Given the description of an element on the screen output the (x, y) to click on. 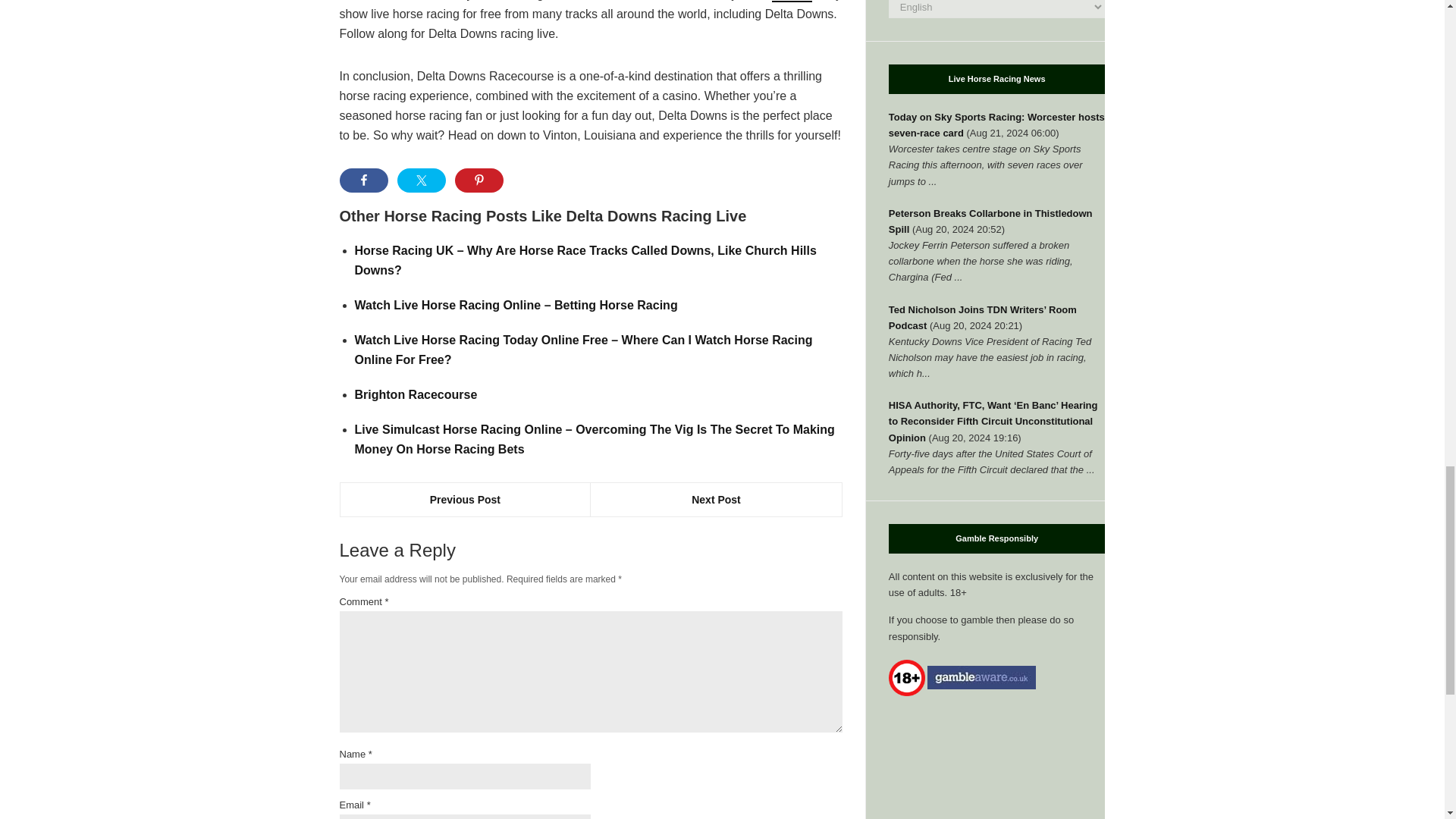
this link (791, 1)
Share on Twitter (421, 180)
Brighton Racecourse (416, 394)
Share on Pinterest (478, 180)
Share on Facebook (363, 180)
